Given the description of an element on the screen output the (x, y) to click on. 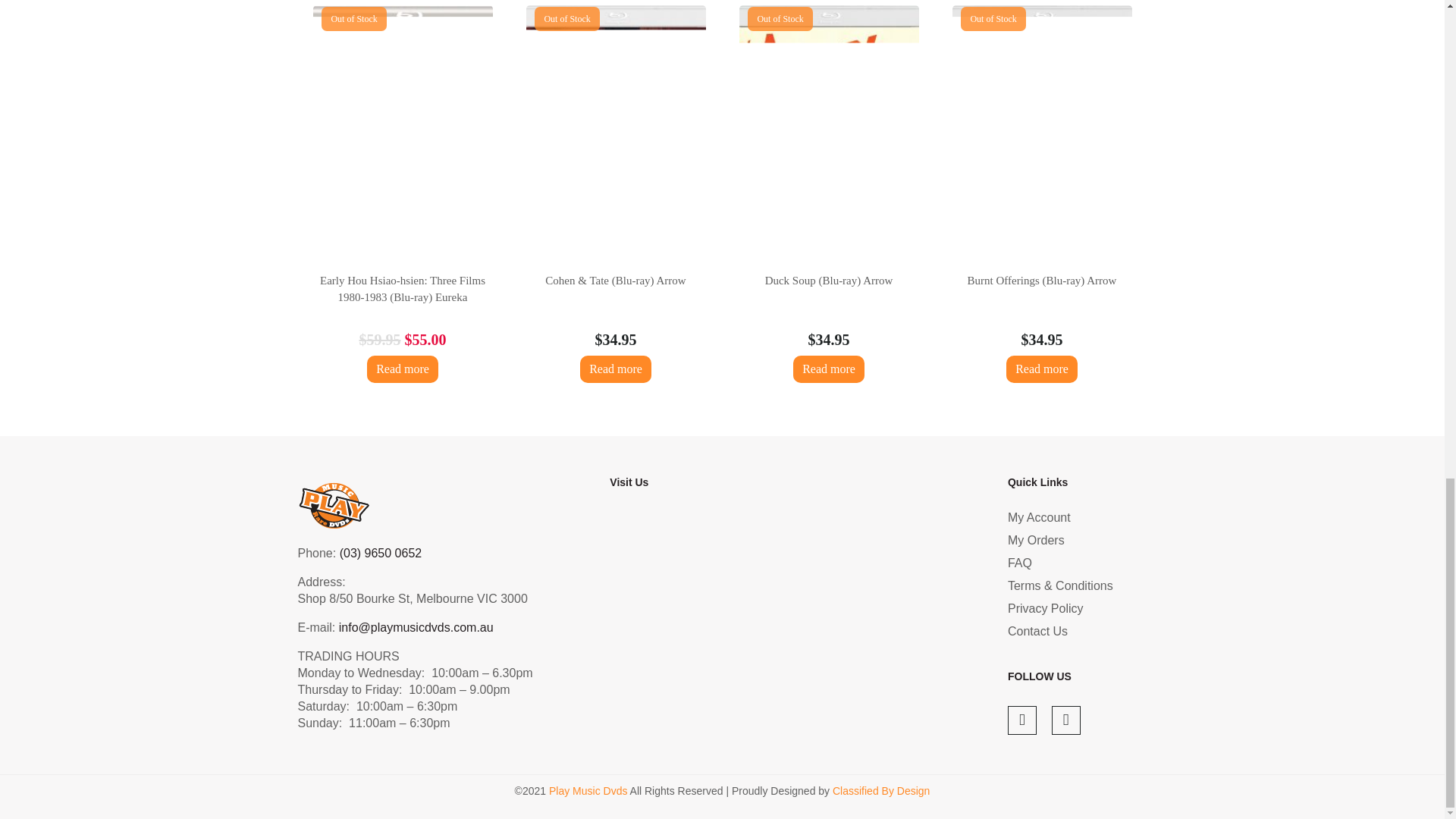
Read more (828, 369)
Read more (614, 369)
Read more (402, 369)
Play music DVDs (789, 625)
